Given the description of an element on the screen output the (x, y) to click on. 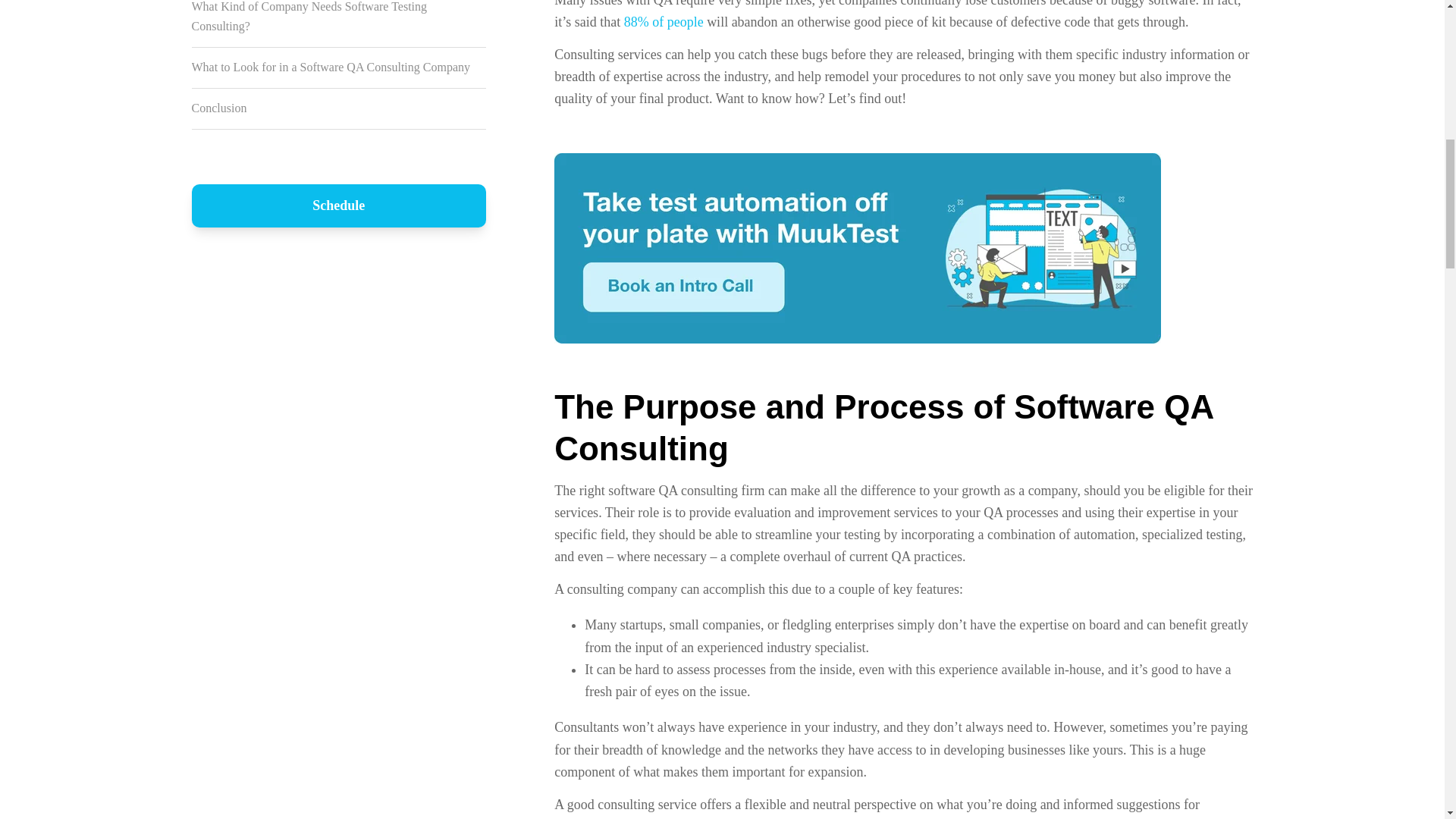
Embedded CTA (857, 248)
Schedule (338, 206)
What to Look for in a Software QA Consulting Company (330, 66)
What Kind of Company Needs Software Testing Consulting? (308, 16)
Conclusion (218, 107)
